Given the description of an element on the screen output the (x, y) to click on. 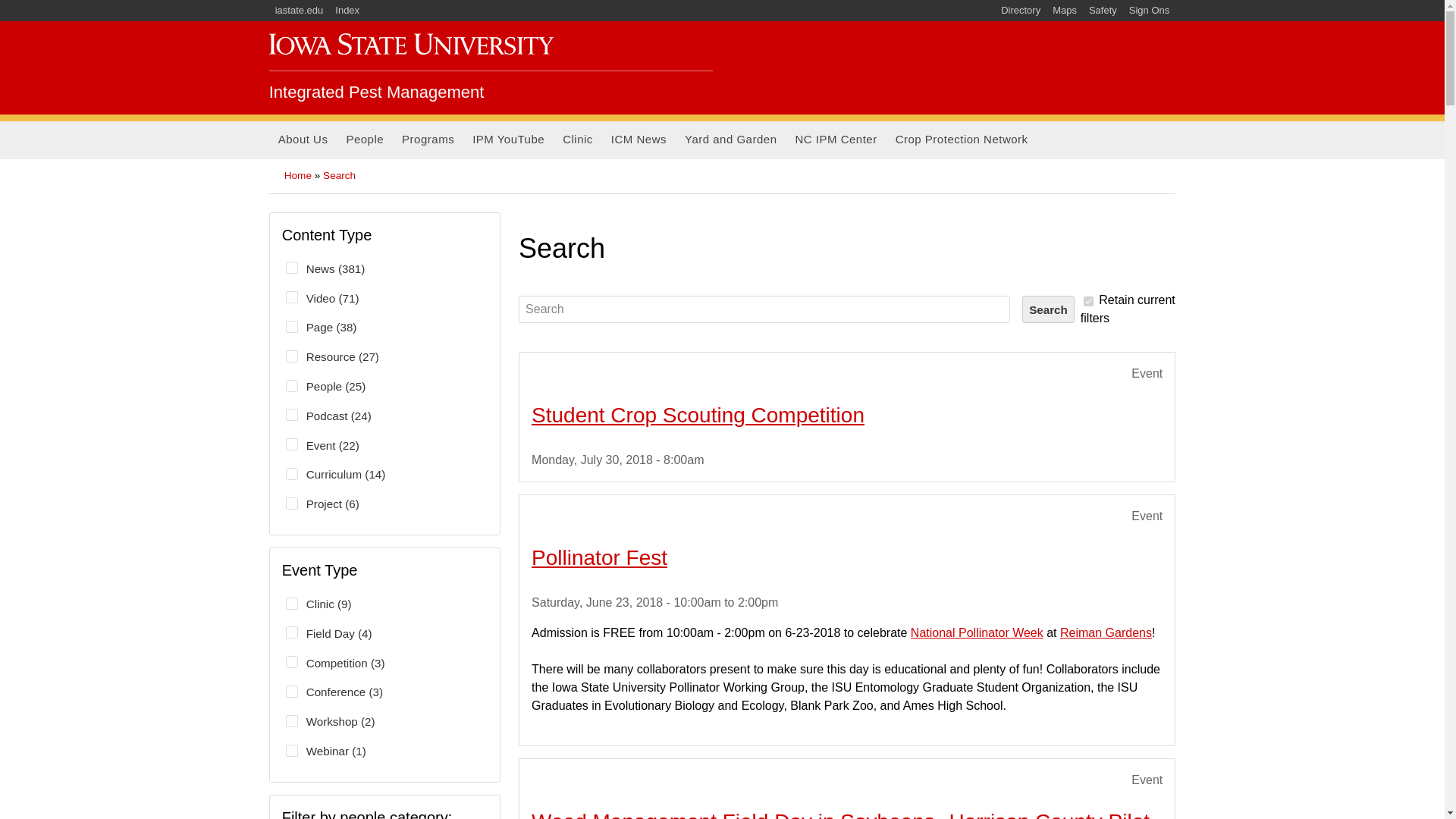
Integrated Crop Management News Homepage (638, 139)
Sign Ons (1148, 10)
Safety (1102, 10)
Student Crop Scouting Competition (697, 414)
IPM YouTube (508, 139)
Event content type (1146, 515)
Yard and Garden website (730, 139)
1 (1088, 301)
People (364, 139)
Crop Protection Network Homepage (961, 139)
Event content type (1146, 780)
Programs (428, 139)
About Us (303, 139)
iastate.edu (299, 10)
